Given the description of an element on the screen output the (x, y) to click on. 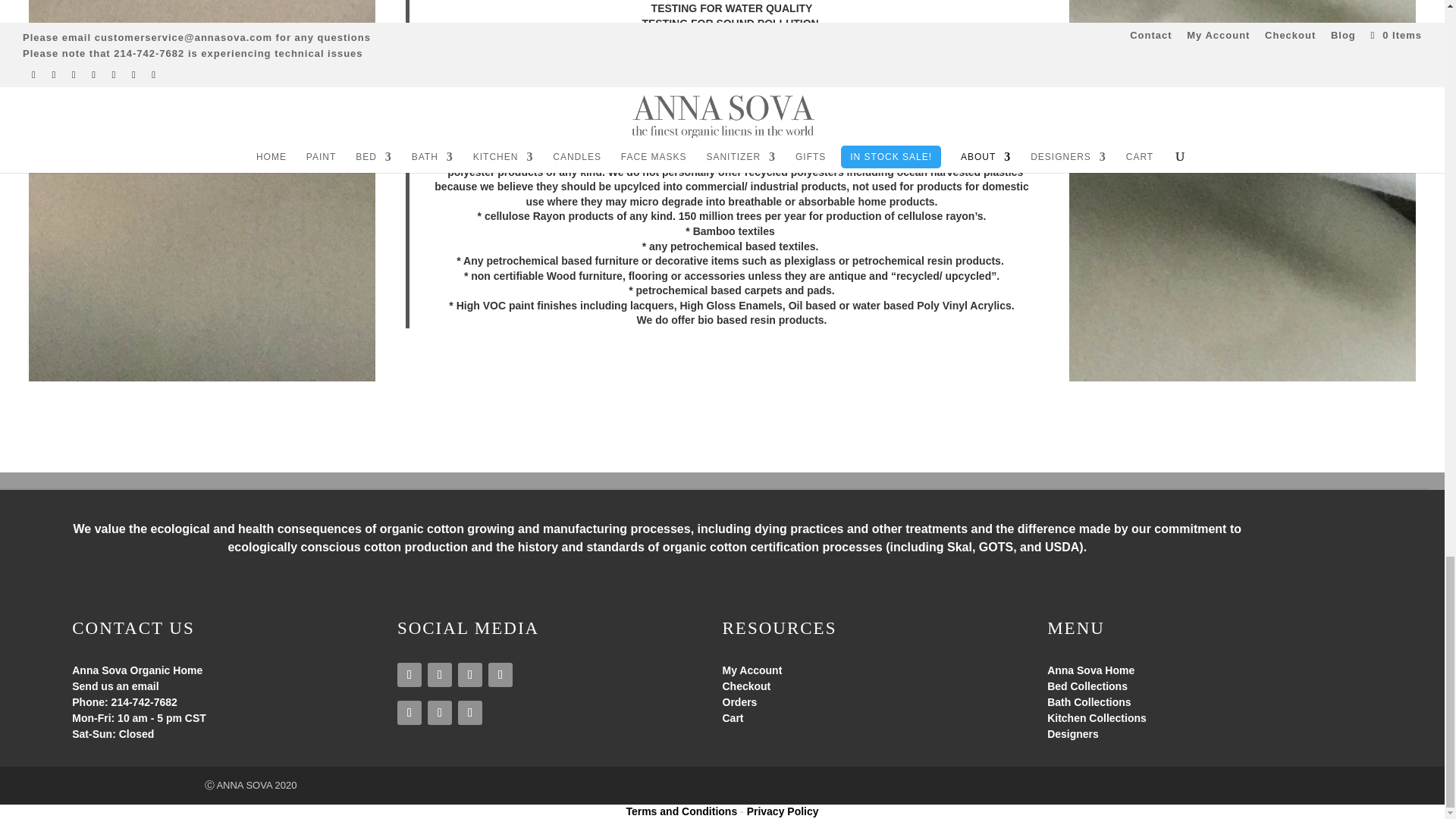
Follow on Instagram (409, 674)
Follow on houzz (409, 712)
Follow on Youtube (499, 674)
Follow on Etsy (439, 712)
Follow on Facebook (439, 674)
Follow on Pinterest (469, 674)
Follow on Mail (469, 712)
